Given the description of an element on the screen output the (x, y) to click on. 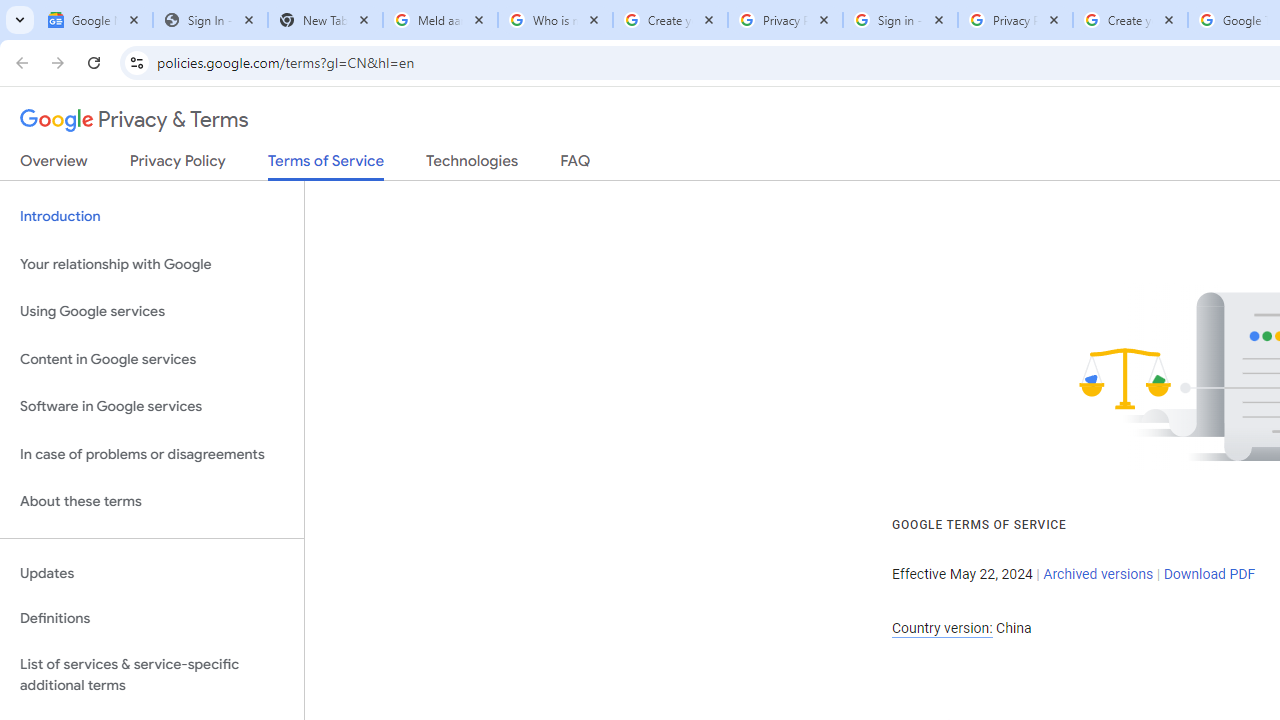
New Tab (324, 20)
Who is my administrator? - Google Account Help (555, 20)
